Given the description of an element on the screen output the (x, y) to click on. 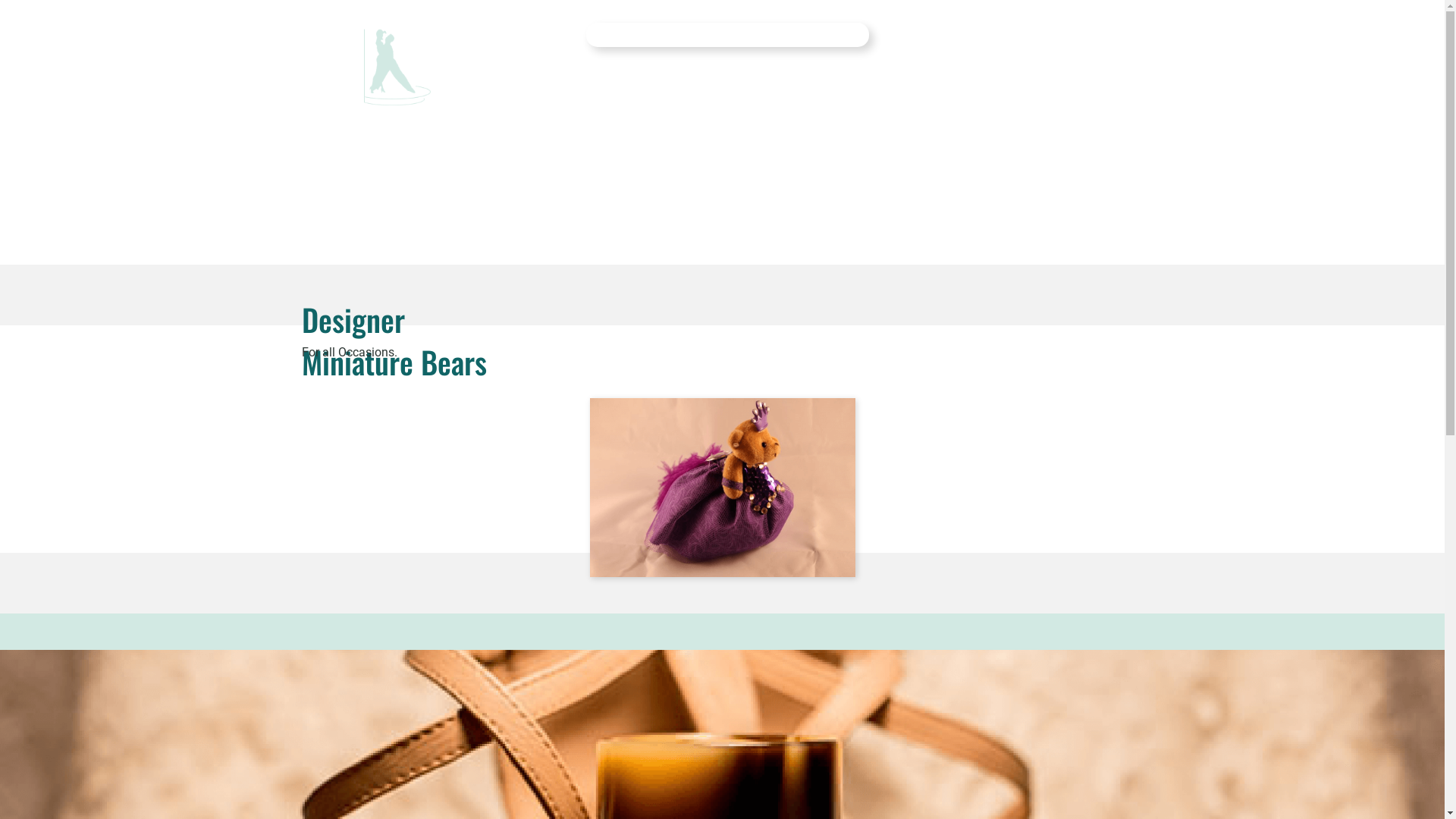
CONTACT Element type: text (772, 34)
REGISTRATIONS Element type: text (654, 34)
My Account Element type: text (934, 33)
